Given the description of an element on the screen output the (x, y) to click on. 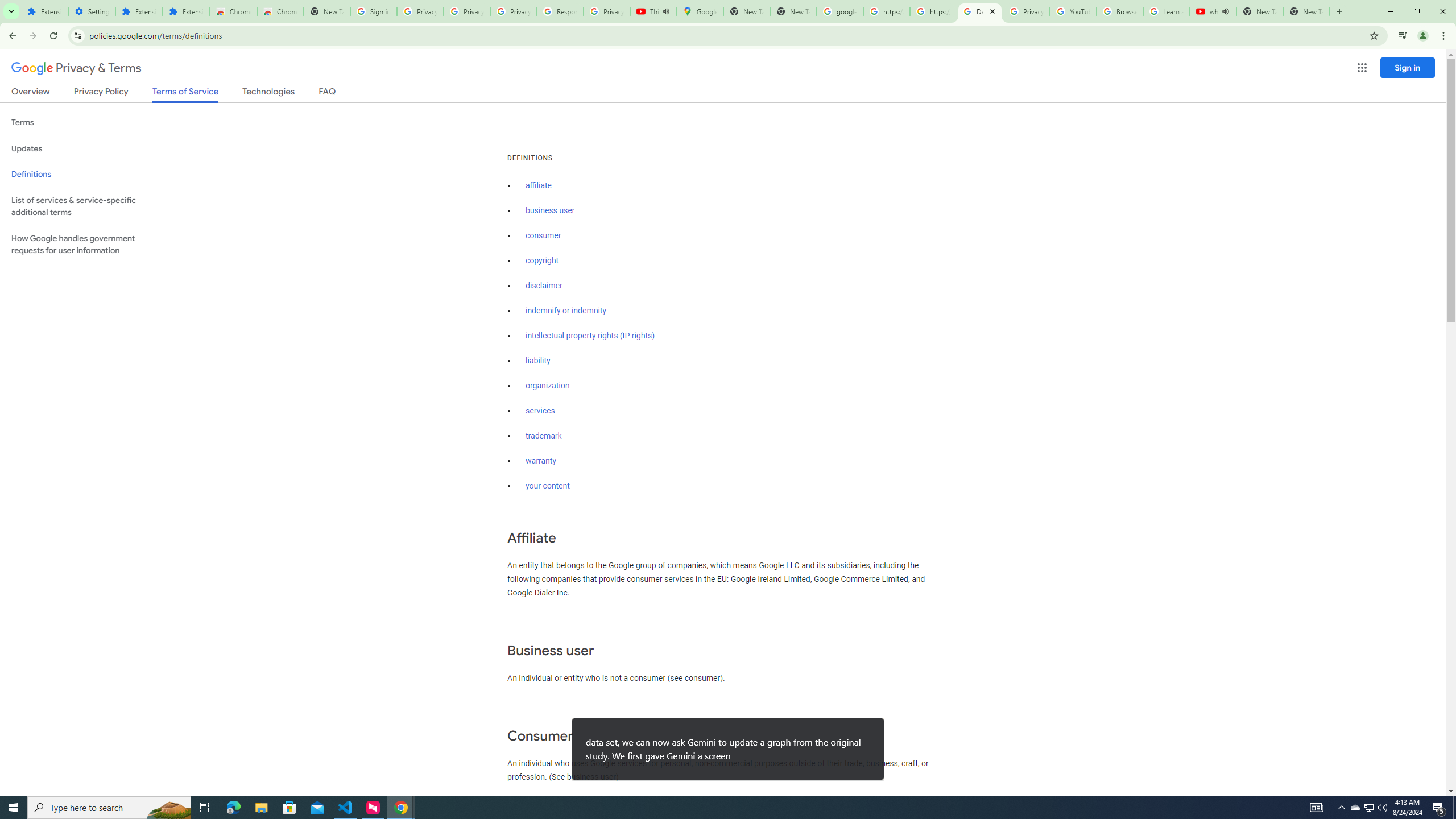
New Tab (326, 11)
New Tab (1306, 11)
warranty (540, 461)
intellectual property rights (IP rights) (590, 335)
